Given the description of an element on the screen output the (x, y) to click on. 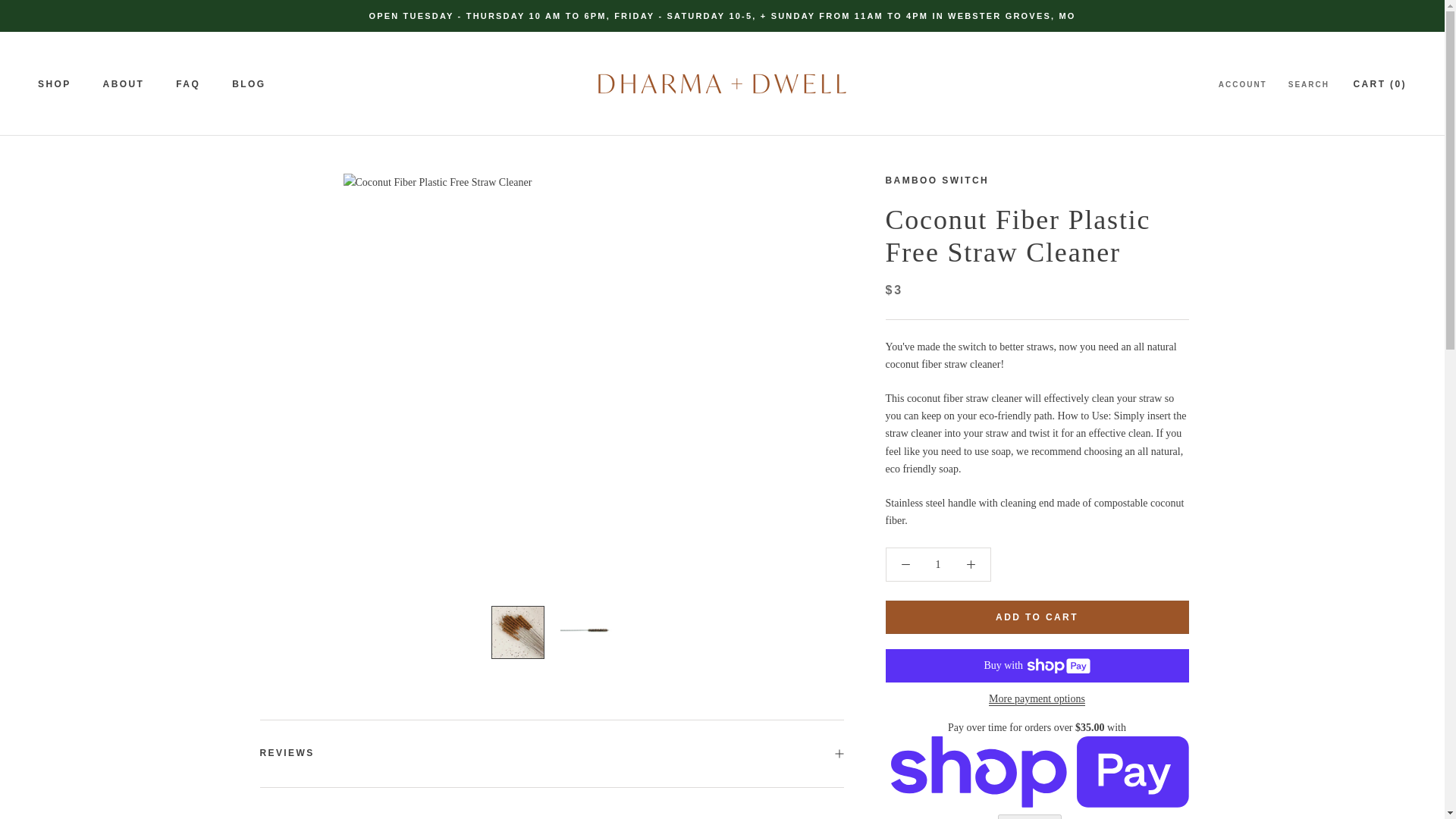
1 (938, 564)
